Given the description of an element on the screen output the (x, y) to click on. 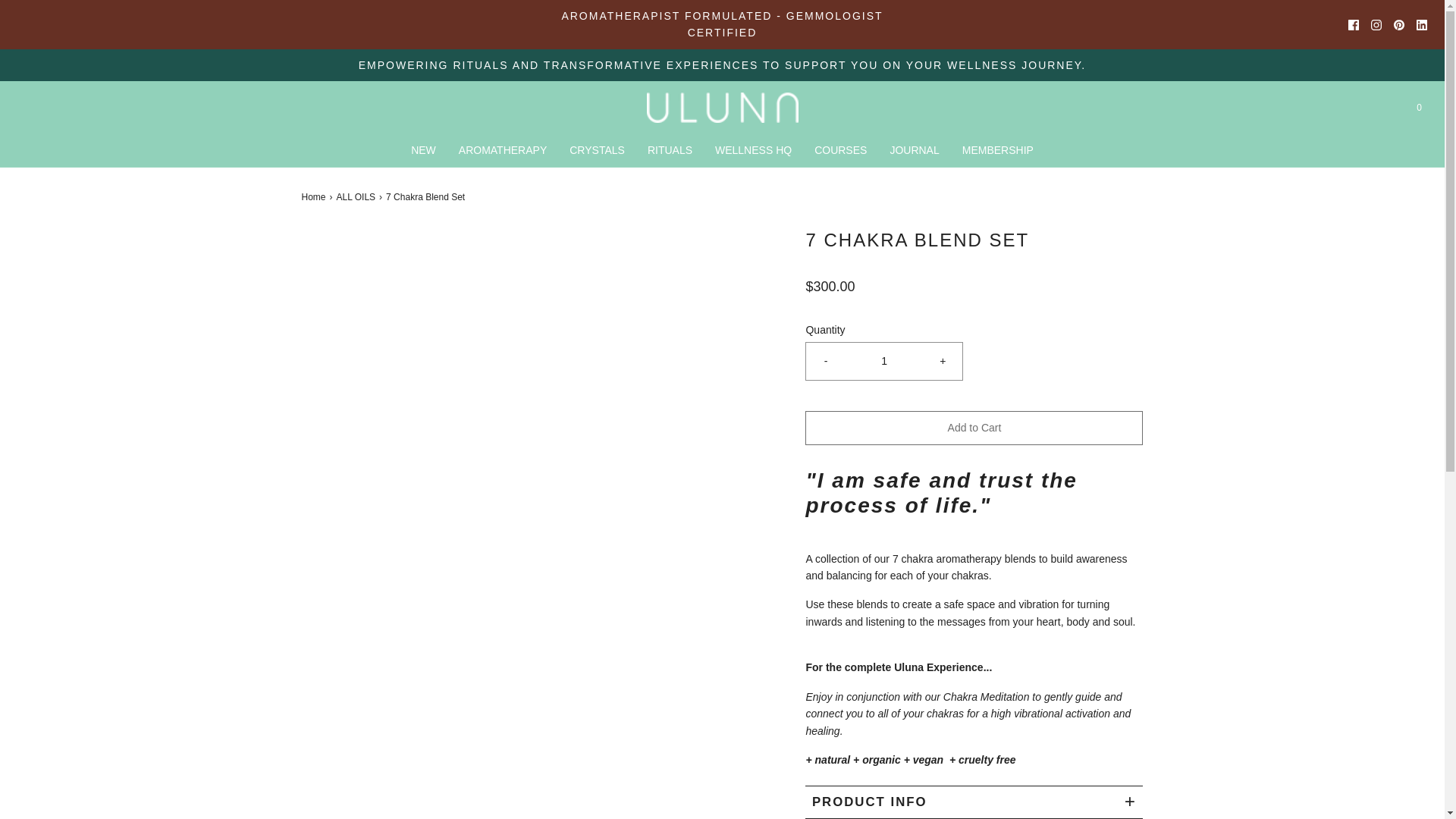
INSTAGRAM ICON (1376, 24)
1 (884, 361)
LINKEDIN ICON (1421, 24)
Back to the frontpage (315, 197)
FACEBOOK ICON (1353, 24)
PINTEREST ICON (1399, 24)
FACEBOOK ICON (1353, 24)
PINTEREST ICON (1399, 24)
LINKEDIN ICON (1421, 24)
INSTAGRAM ICON (1376, 24)
